Given the description of an element on the screen output the (x, y) to click on. 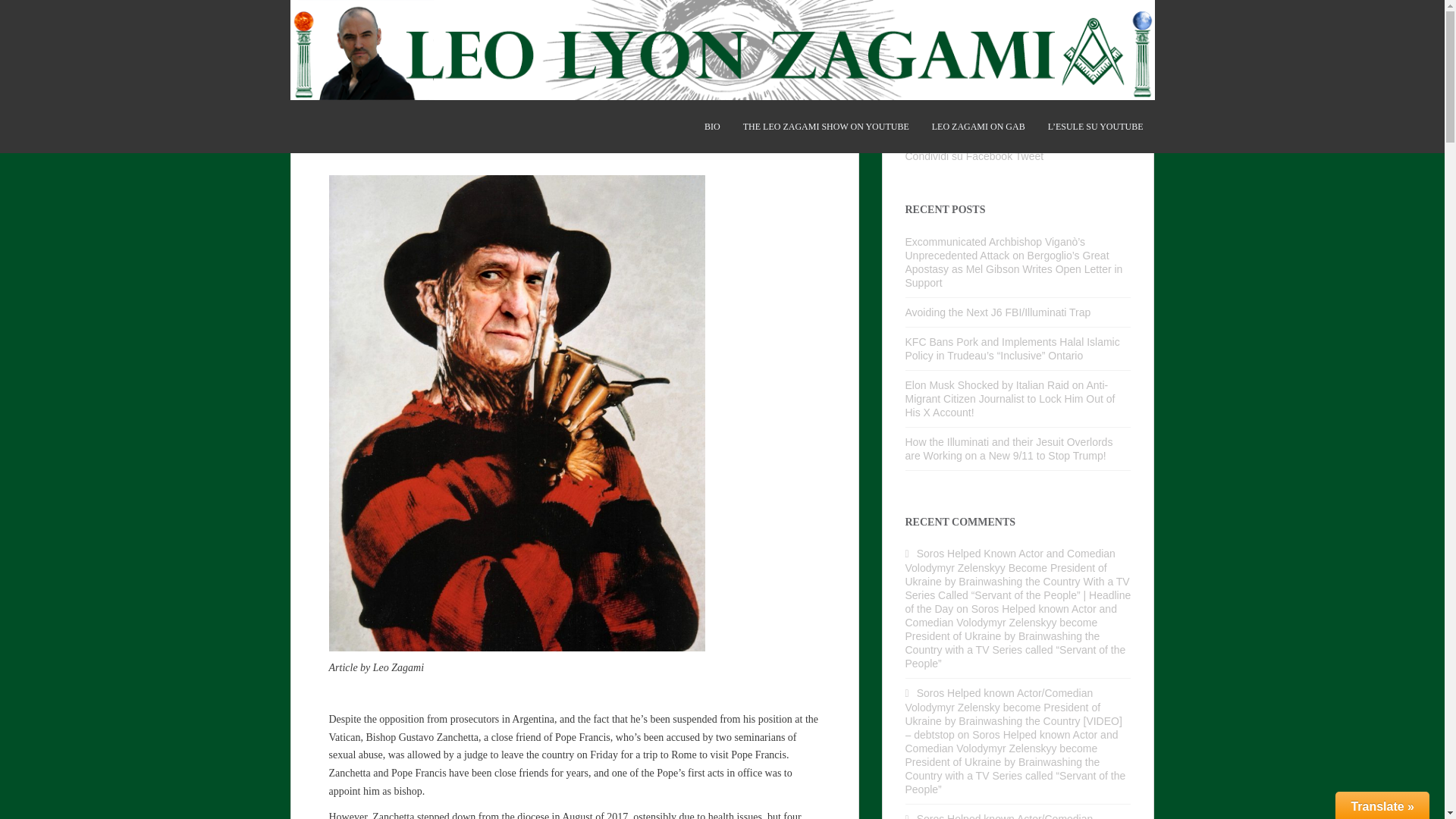
LEO ZAGAMI ON GAB (978, 126)
Tweet (1028, 155)
27 June 2019 (366, 143)
Condividi su Facebook (959, 155)
THE LEO ZAGAMI SHOW (825, 126)
THE LEO ZAGAMI SHOW ON YOUTUBE (825, 126)
Search for: (1006, 66)
adm-zagami (439, 143)
Search (1118, 66)
